Given the description of an element on the screen output the (x, y) to click on. 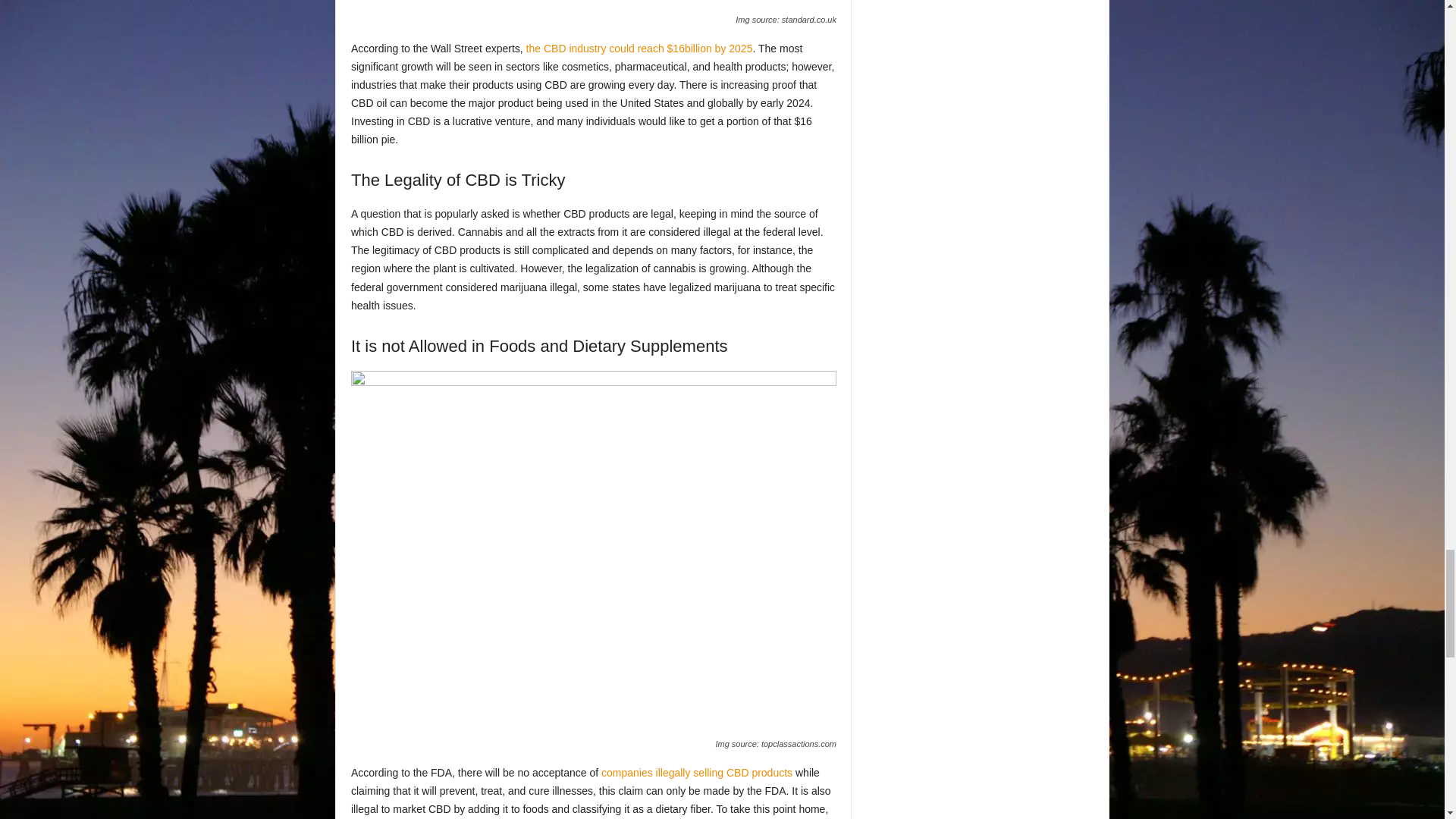
companies illegally selling CBD products (696, 772)
